Given the description of an element on the screen output the (x, y) to click on. 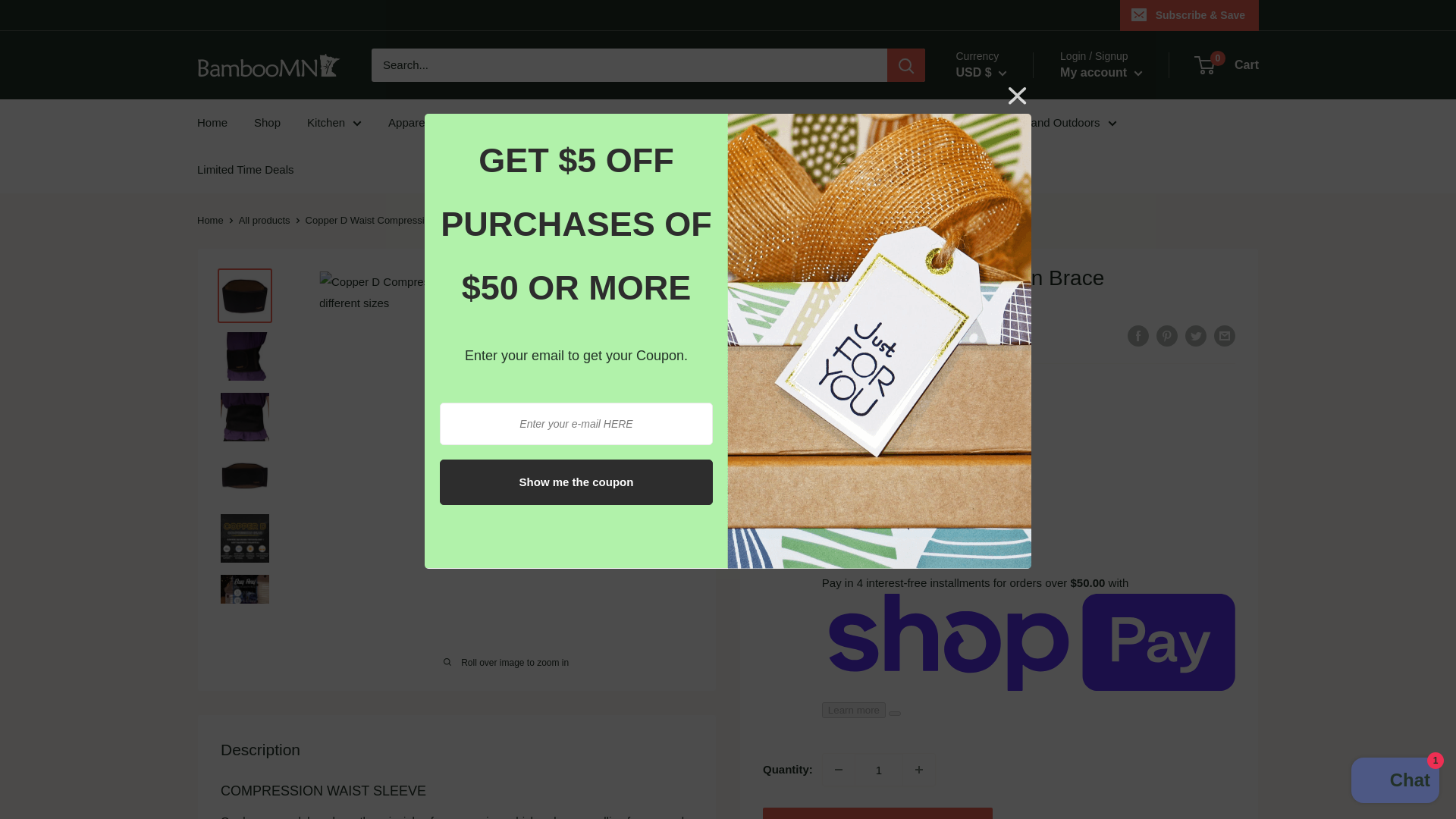
1 (878, 769)
1 Brace (796, 500)
2 Braces (870, 500)
Increase quantity by 1 (918, 769)
Decrease quantity by 1 (838, 769)
10 Braces (951, 500)
Shopify online store chat (1395, 781)
